Given the description of an element on the screen output the (x, y) to click on. 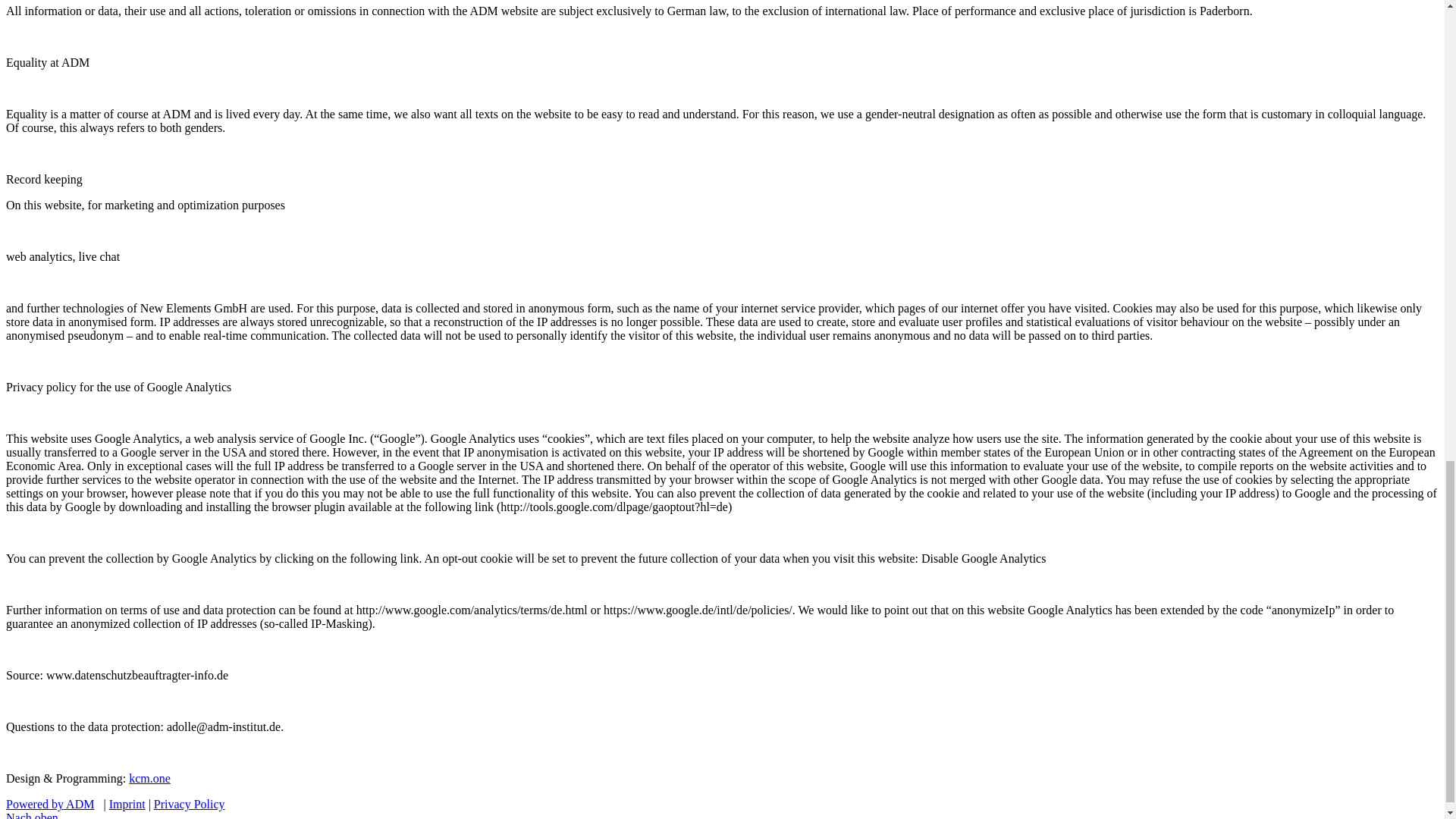
Privacy Policy (189, 803)
Imprint (127, 803)
Powered by ADM (49, 803)
kcm.one (149, 778)
